Given the description of an element on the screen output the (x, y) to click on. 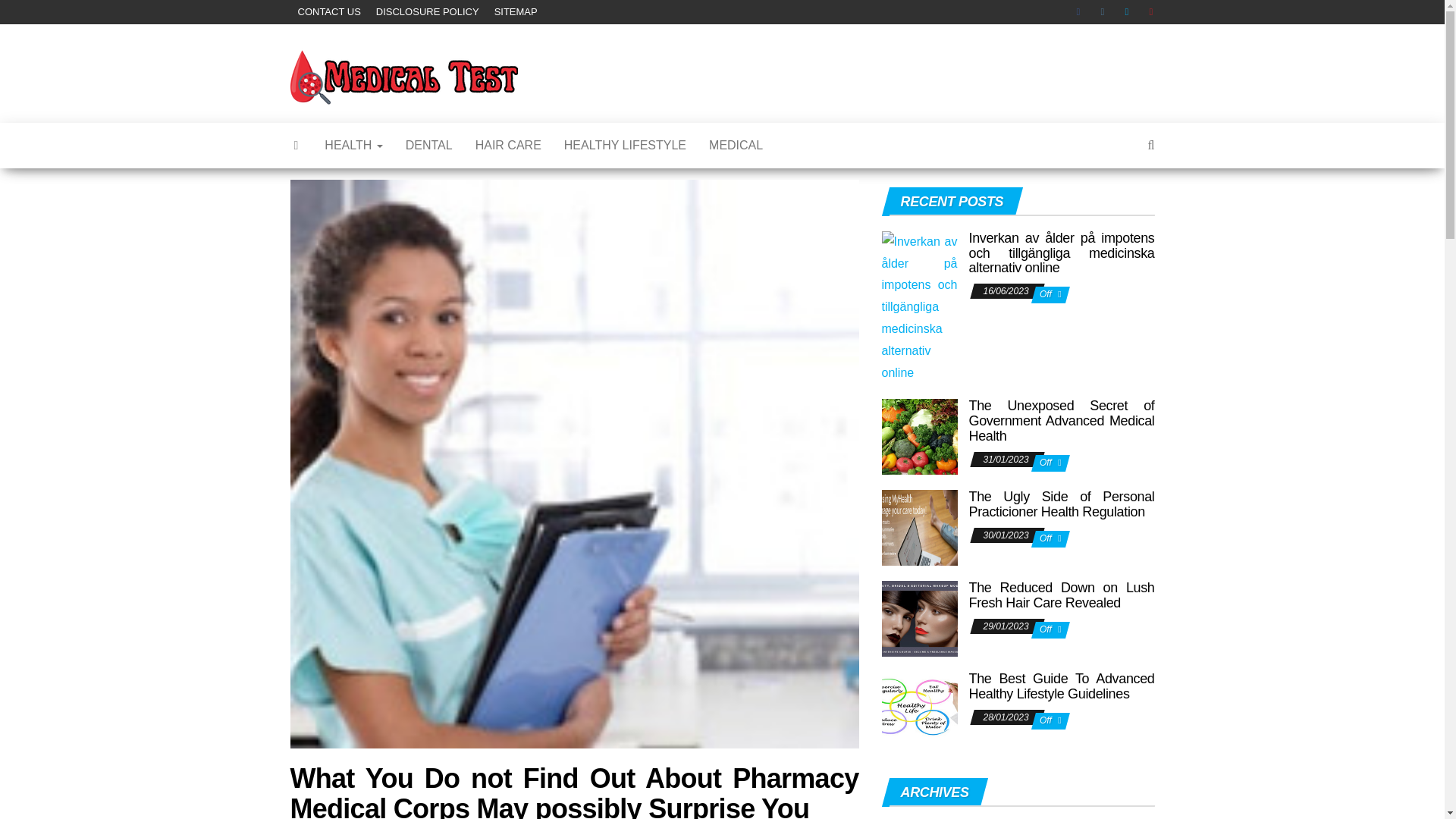
Dental (429, 145)
HEALTHY LIFESTYLE (625, 145)
DENTAL (429, 145)
The Unexposed Secret of Government Advanced Medical Health (1061, 420)
INSTAGRAM (1105, 12)
FACEBOOK (1080, 12)
Instagram (1105, 12)
SITEMAP (515, 12)
HAIR CARE (508, 145)
Medical (735, 145)
